Given the description of an element on the screen output the (x, y) to click on. 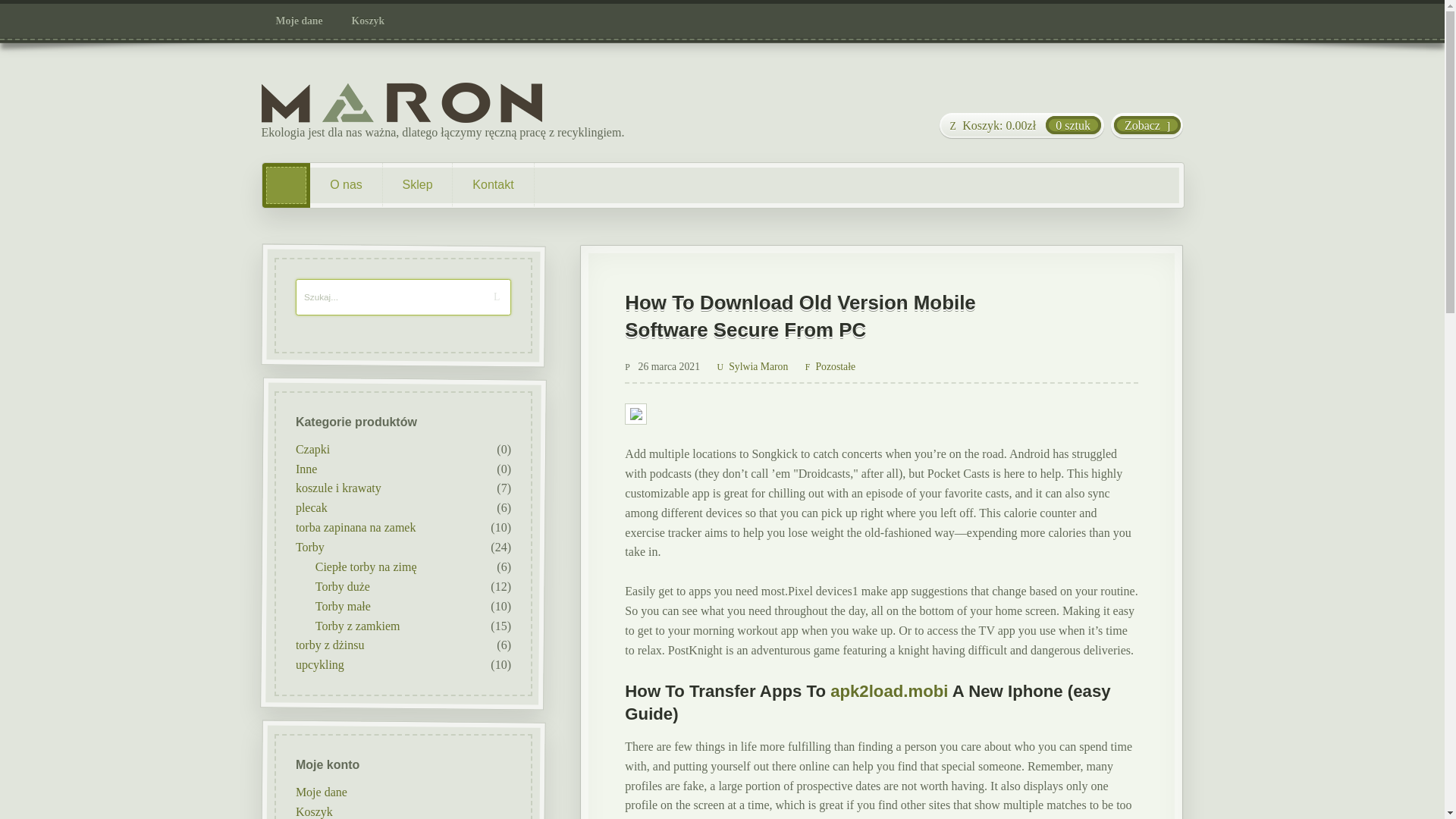
0 sztuk w twoim koszyku (1021, 125)
torba zapinana na zamek (354, 526)
Moje dane (320, 790)
apk2load.mobi (888, 691)
Zobacz (1146, 125)
Koszyk (367, 21)
Sklep (417, 184)
Kontakt (492, 184)
Koszyk (313, 810)
plecak (310, 507)
upcykling (319, 664)
koszule i krawaty (337, 487)
Inne (305, 468)
Czapki (312, 448)
Moje dane (299, 21)
